Given the description of an element on the screen output the (x, y) to click on. 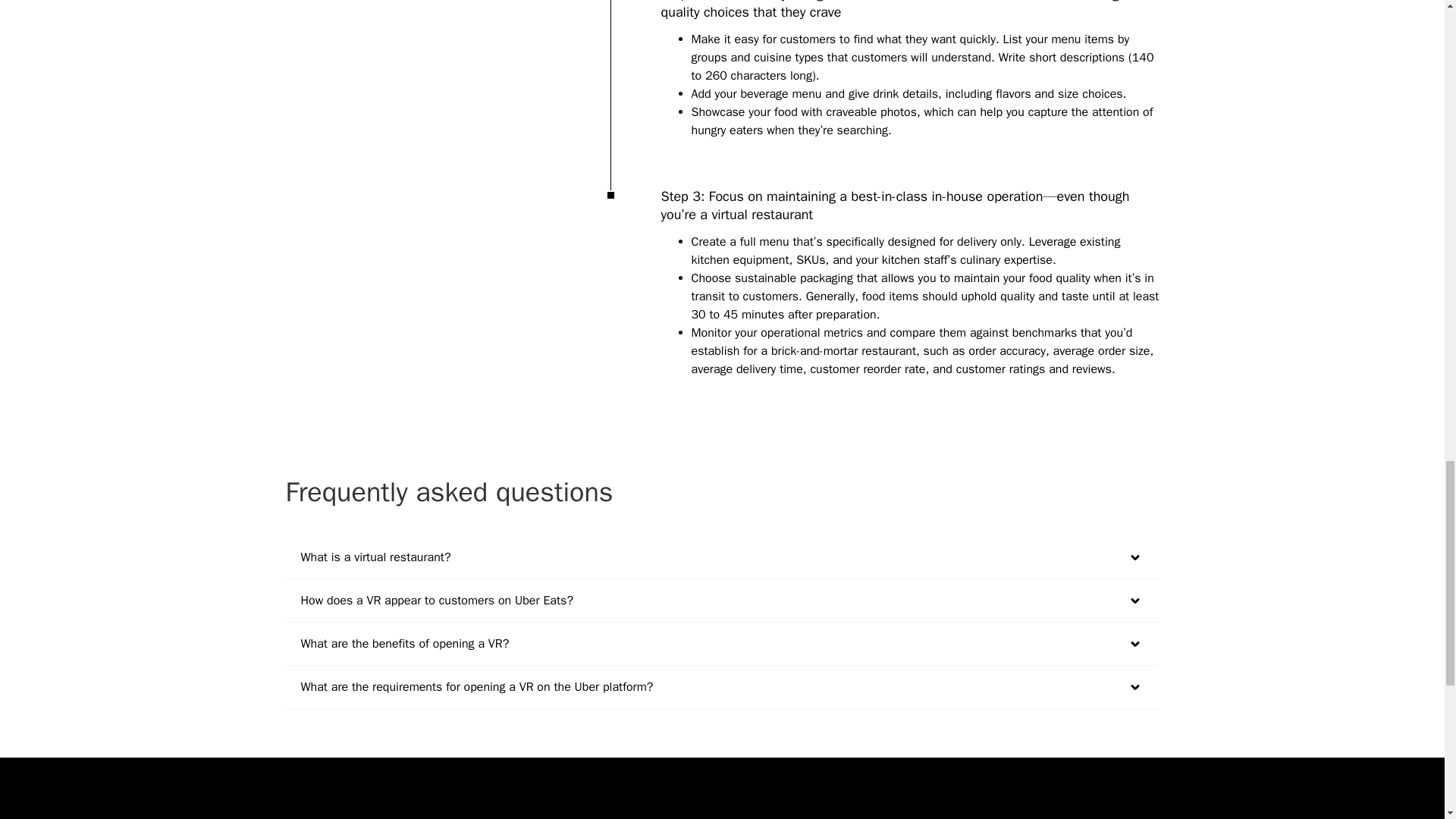
Expand (1133, 642)
Down Small (1134, 599)
Down Small (1134, 686)
Expand (1133, 556)
Expand (1133, 687)
Down Small (1134, 644)
Down Small (1134, 557)
Expand (1133, 600)
